Given the description of an element on the screen output the (x, y) to click on. 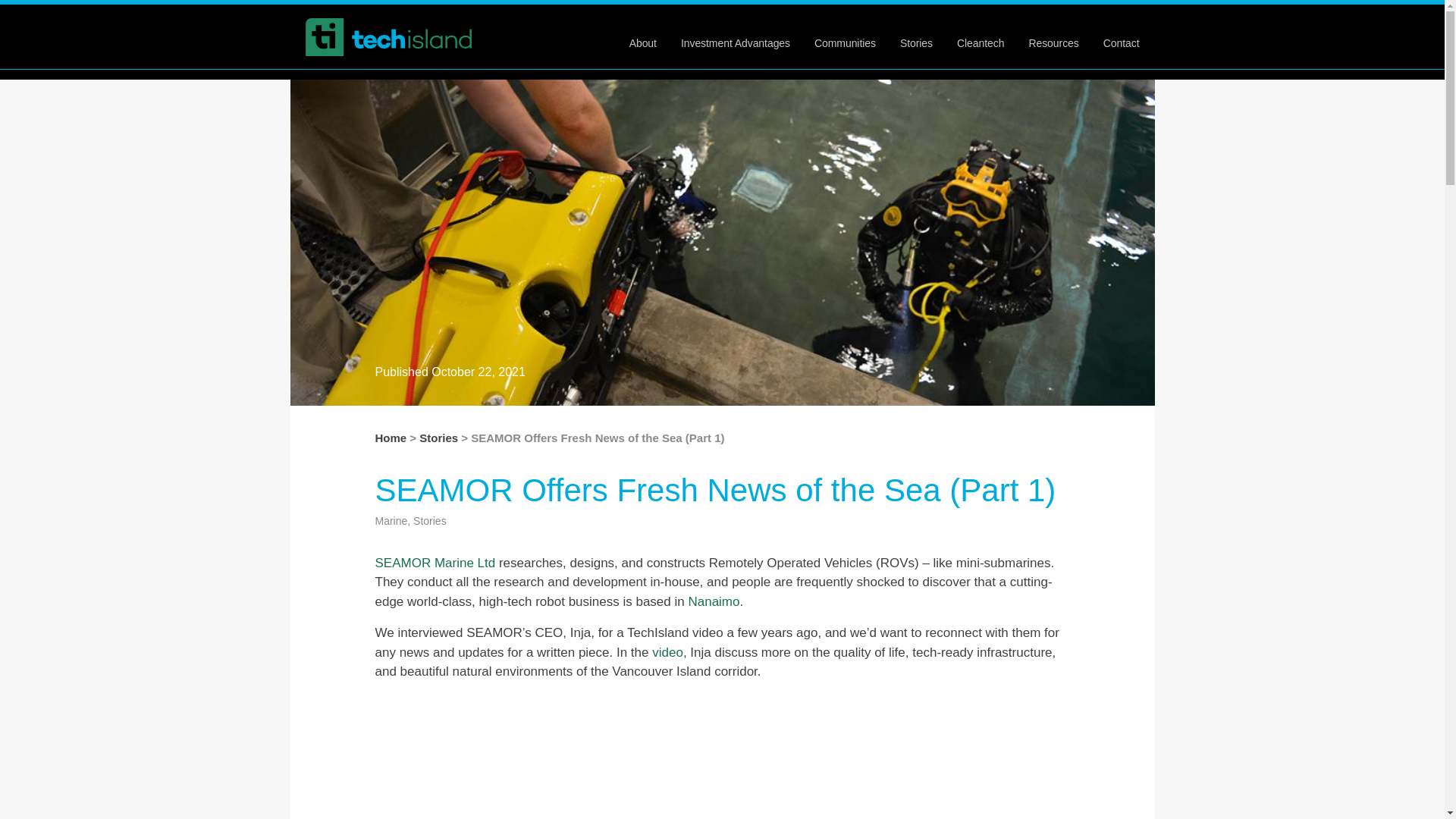
Stories (429, 521)
Contact (1121, 42)
Home (390, 437)
Stories (438, 437)
Marine (390, 521)
Resources (1052, 42)
Communities (844, 42)
YouTube video player (721, 756)
Stories (916, 42)
About (642, 42)
